Given the description of an element on the screen output the (x, y) to click on. 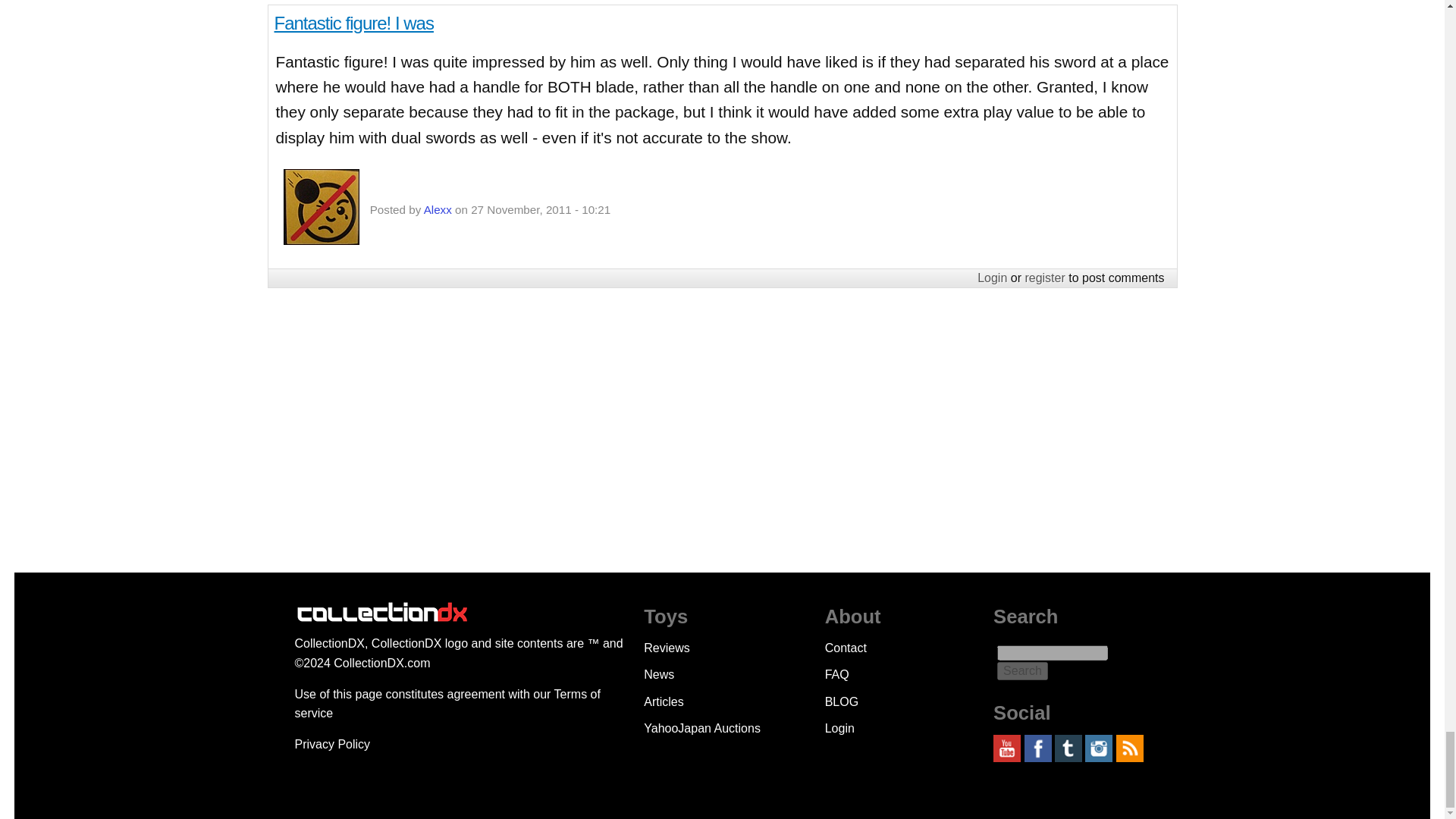
Search (1022, 670)
